Given the description of an element on the screen output the (x, y) to click on. 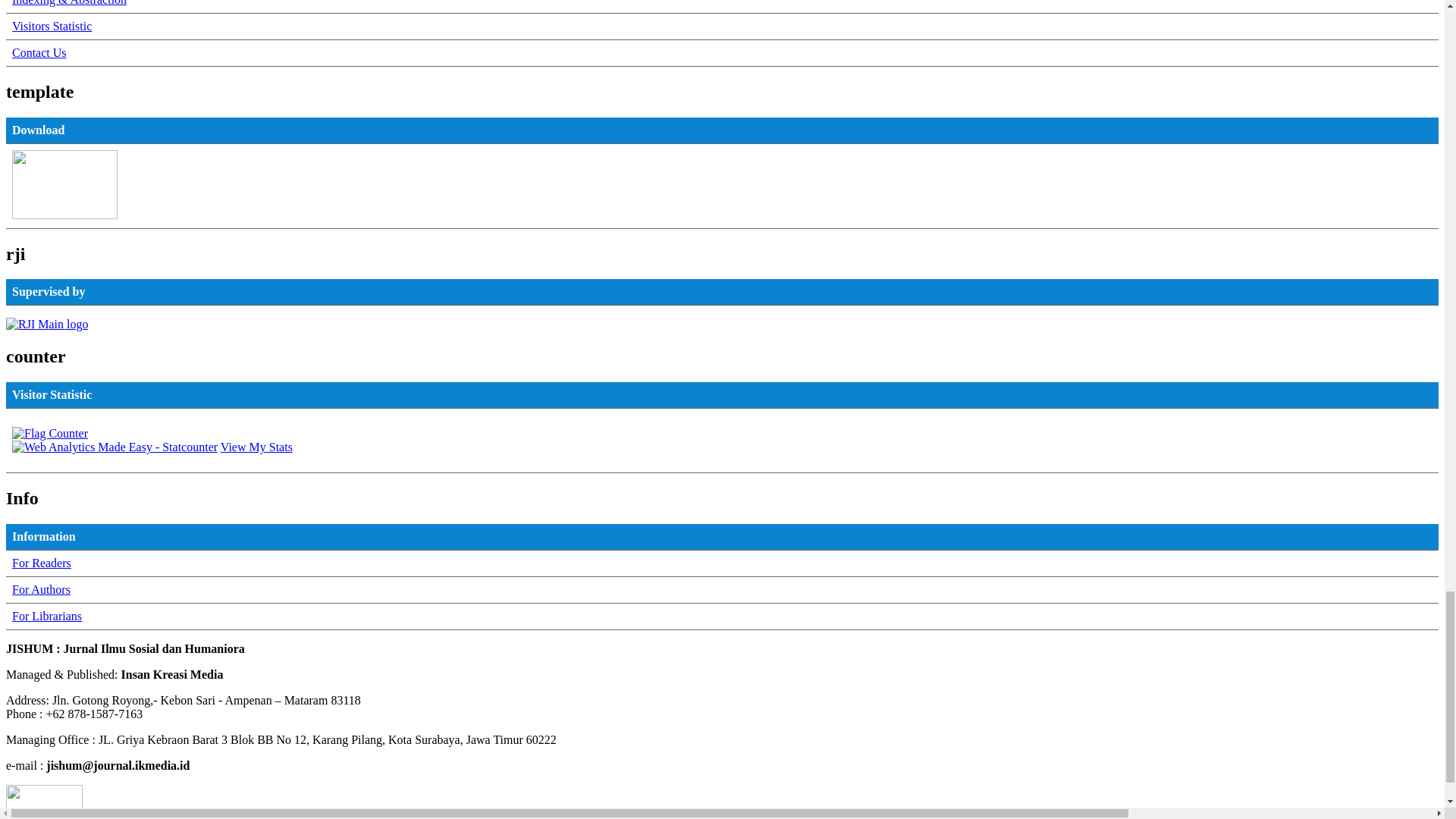
Web Analytics Made Easy - Statcounter (113, 446)
